Given the description of an element on the screen output the (x, y) to click on. 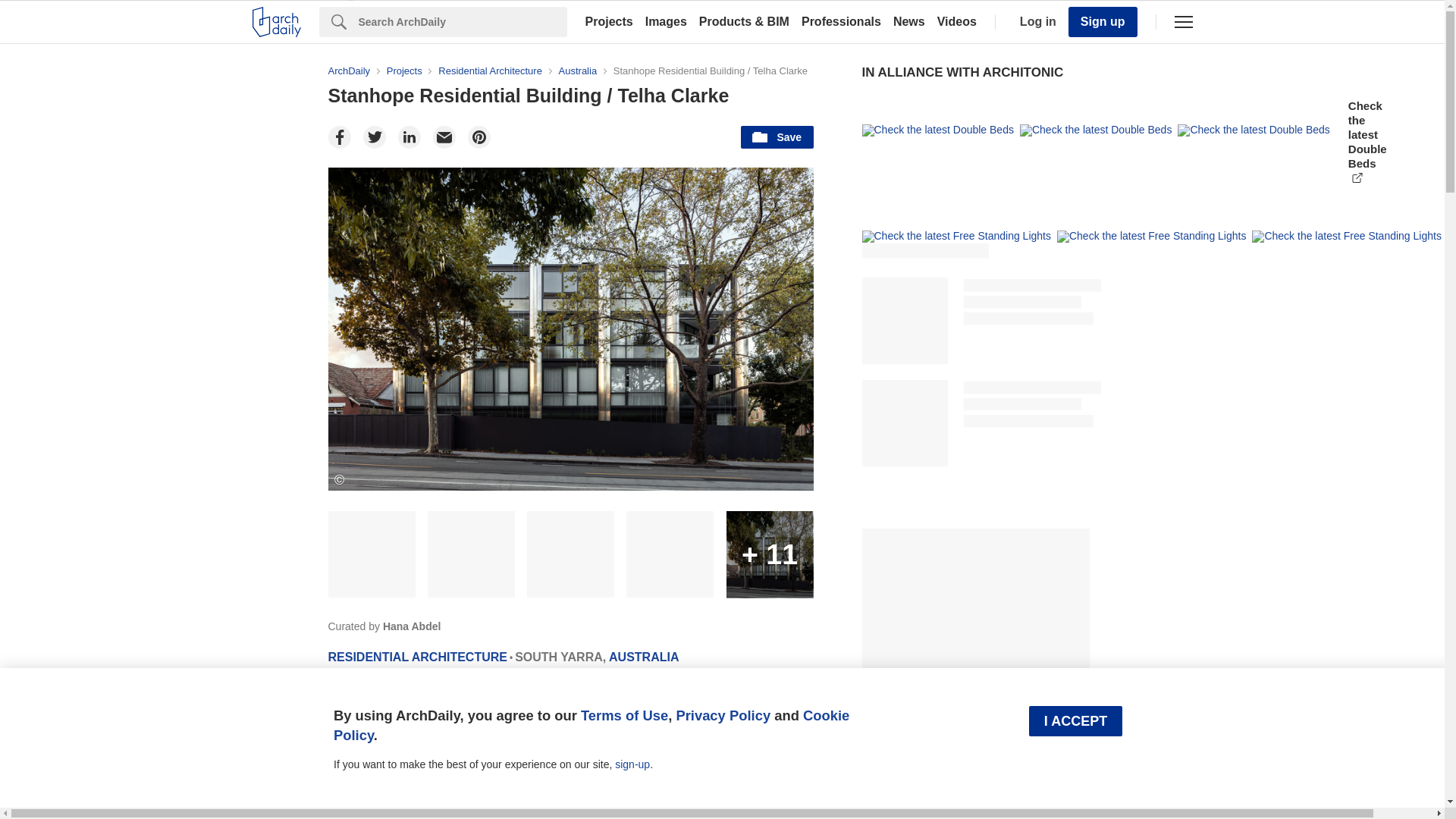
Images (666, 21)
News (908, 21)
Sign up (1102, 21)
Professionals (840, 21)
Log in (1035, 21)
Videos (956, 21)
Projects (609, 21)
